Given the description of an element on the screen output the (x, y) to click on. 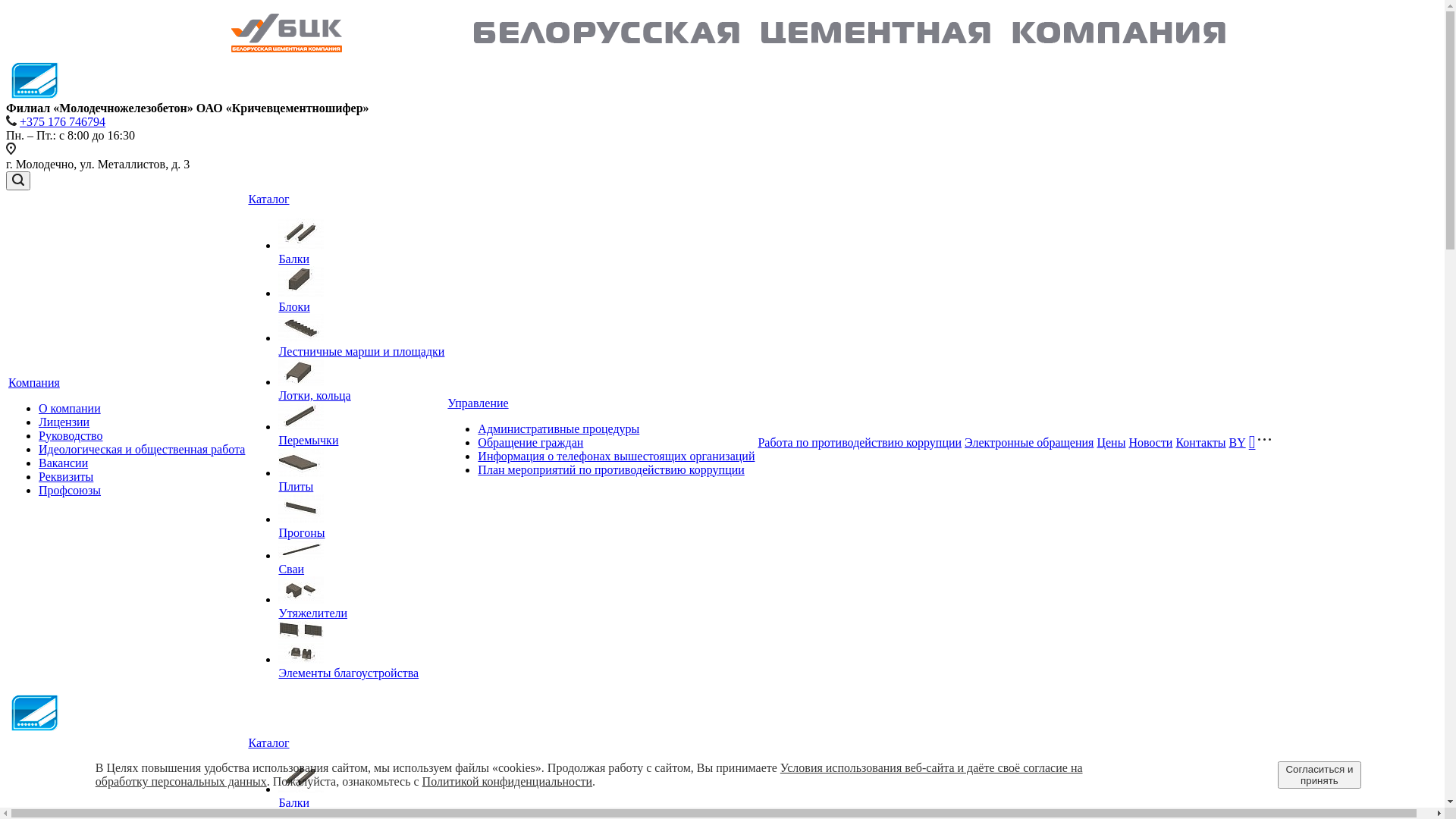
+375 176 746794 Element type: text (62, 121)
BY Element type: text (1236, 441)
